Given the description of an element on the screen output the (x, y) to click on. 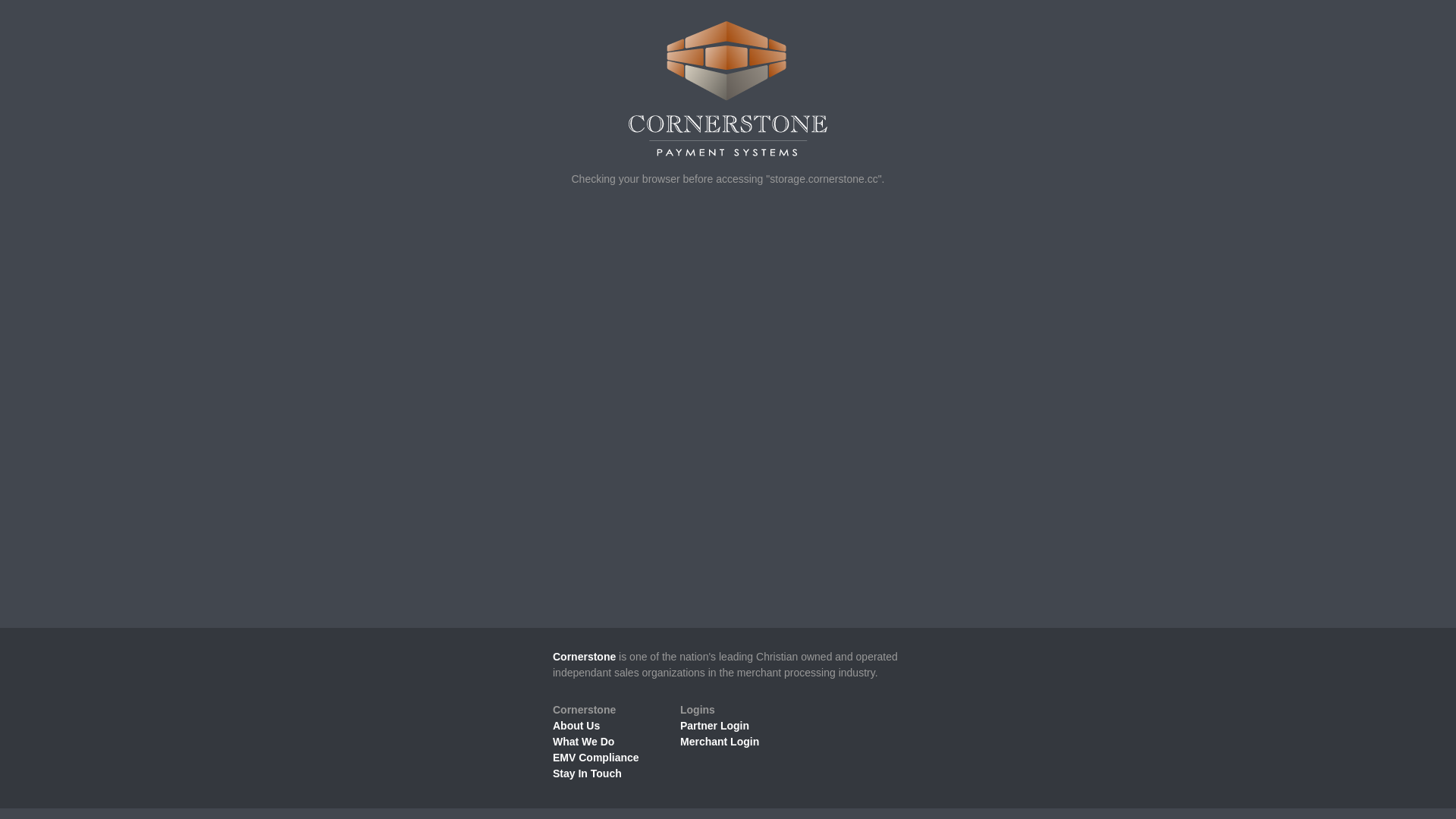
Merchant Login Element type: text (719, 741)
EMV Compliance Element type: text (595, 757)
Partner Login Element type: text (714, 725)
About Us Element type: text (575, 725)
Stay In Touch Element type: text (586, 773)
Cornerstone Element type: text (583, 656)
What We Do Element type: text (583, 741)
